Given the description of an element on the screen output the (x, y) to click on. 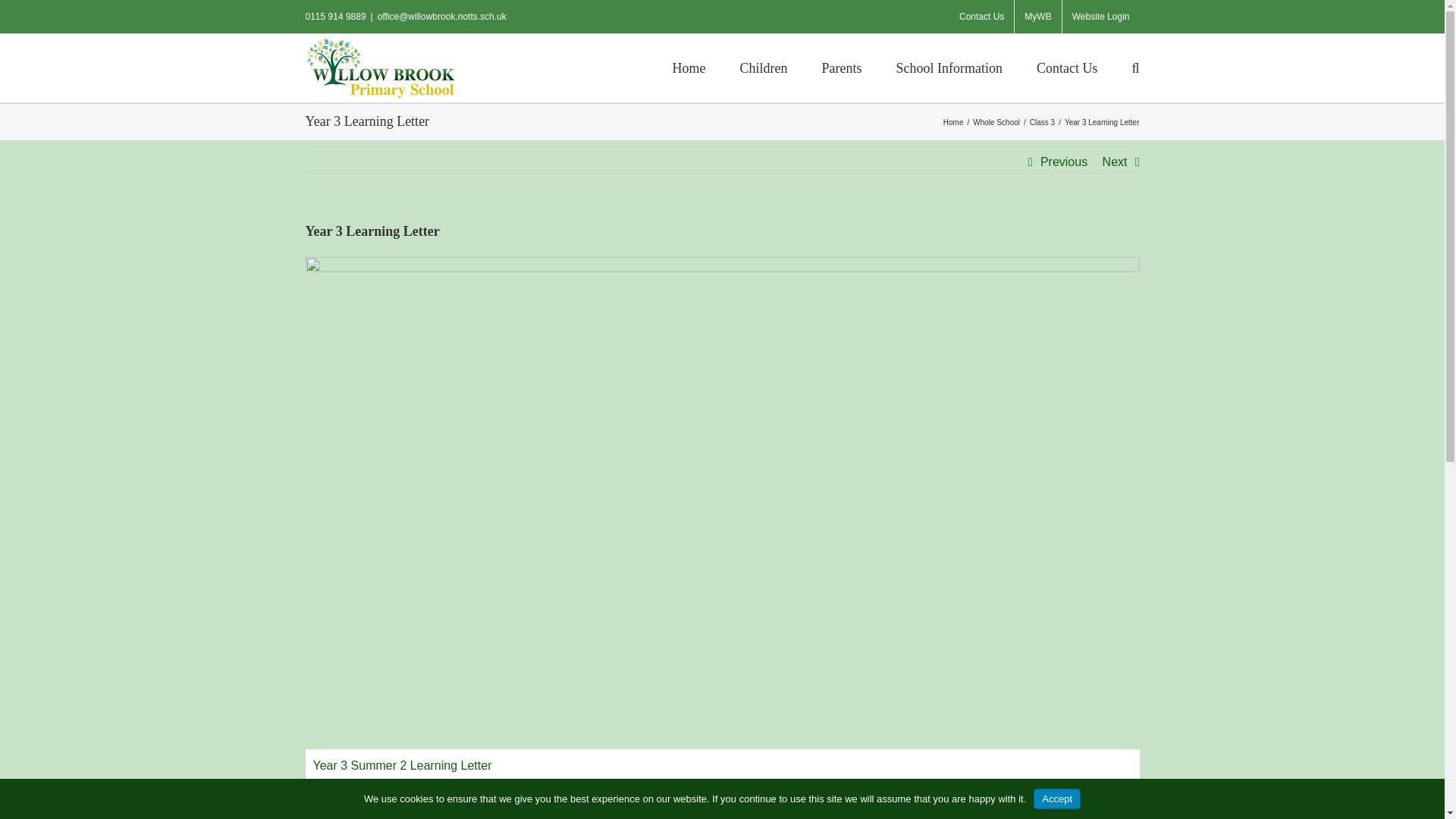
Contact Us (981, 16)
School Information (949, 66)
Website Login (1101, 16)
Year 3 Summer 2 Learning Letter (721, 781)
MyWB (1037, 16)
